Given the description of an element on the screen output the (x, y) to click on. 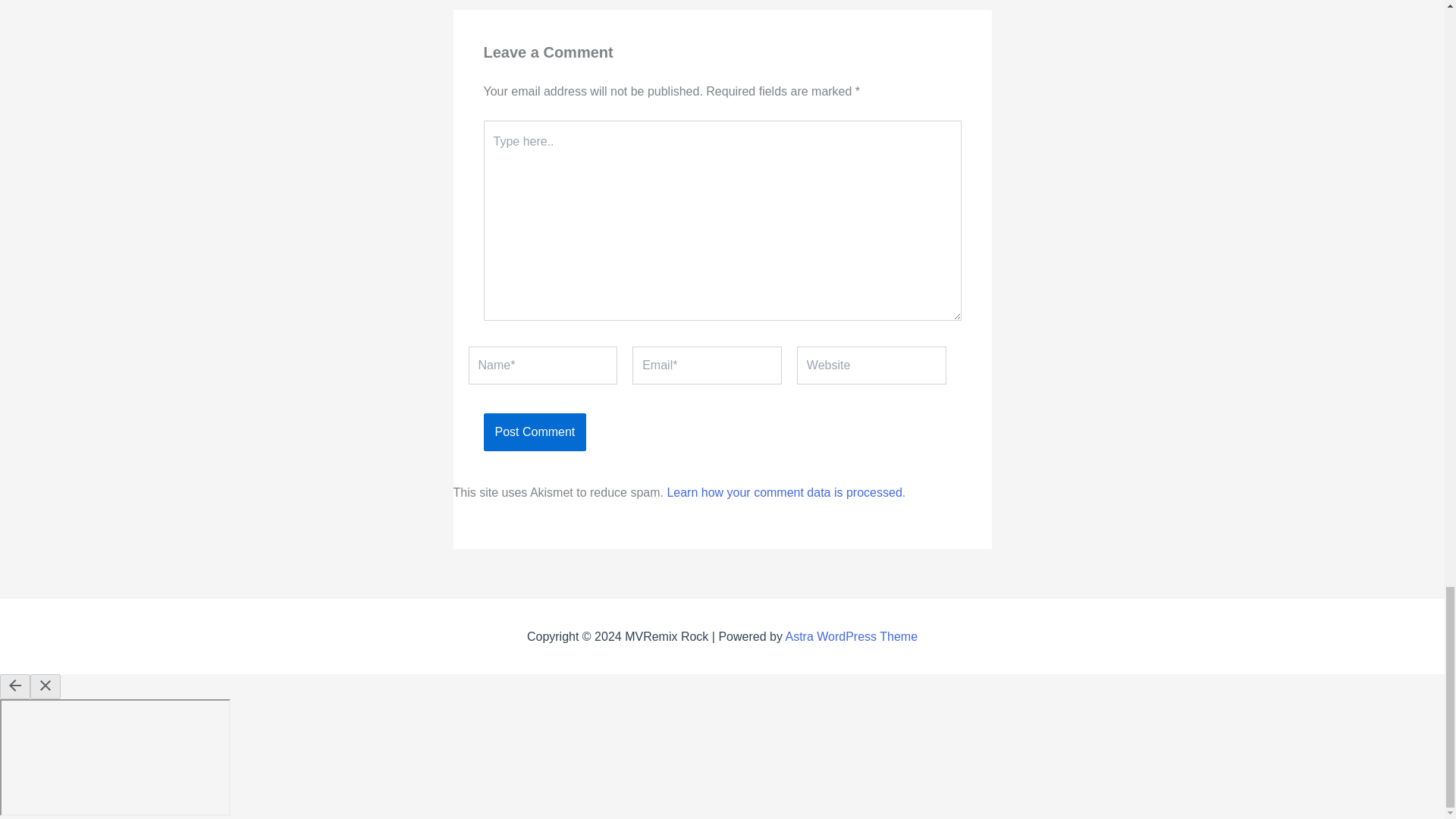
Learn how your comment data is processed (783, 492)
Post Comment (534, 432)
Post Comment (534, 432)
Astra WordPress Theme (850, 635)
